Given the description of an element on the screen output the (x, y) to click on. 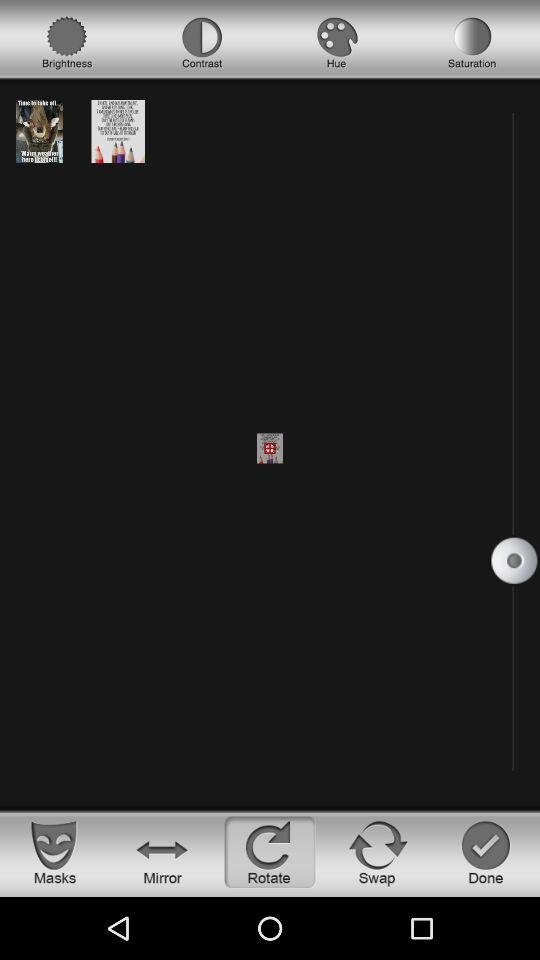
see the masks (53, 852)
